Given the description of an element on the screen output the (x, y) to click on. 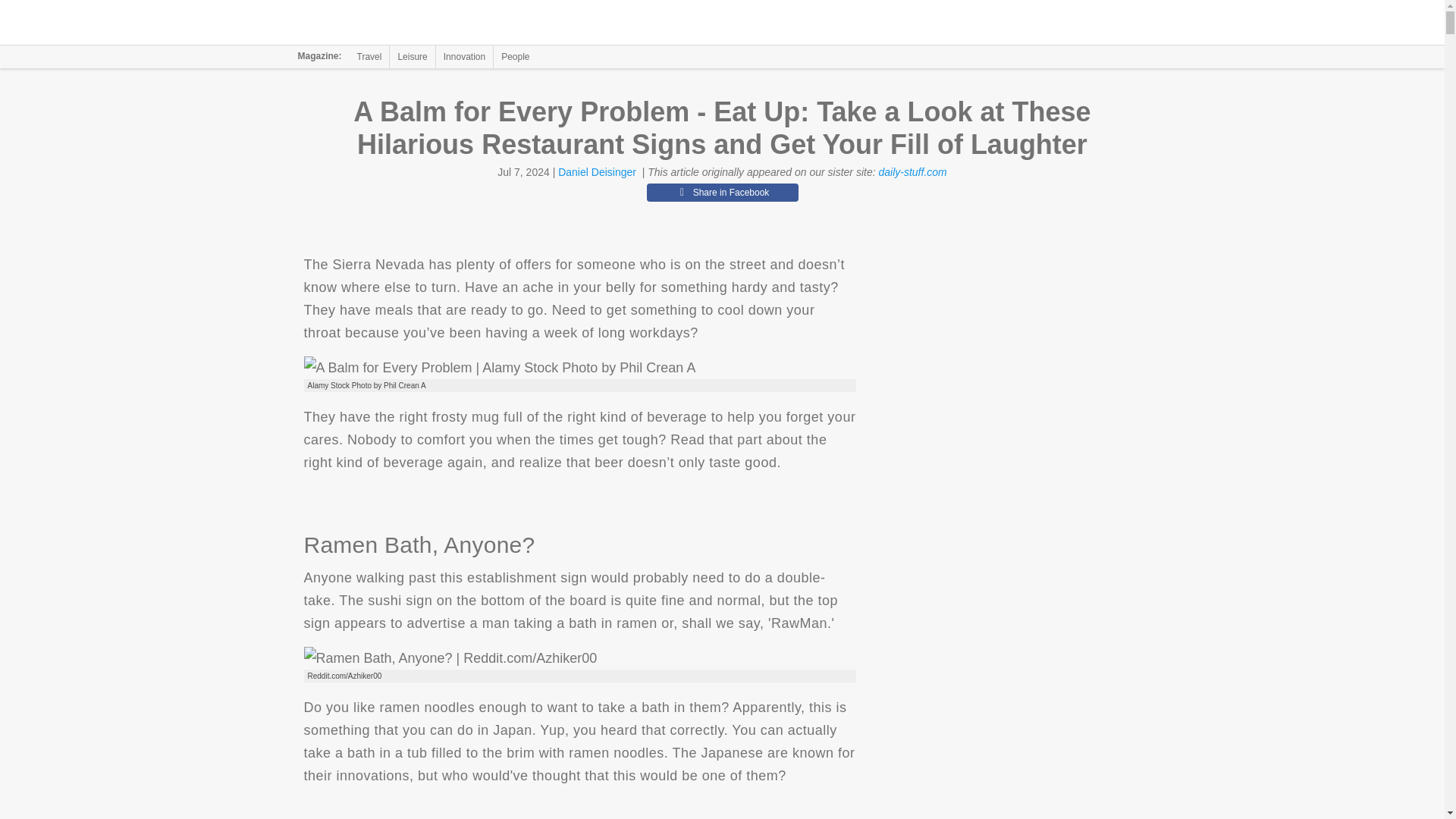
The Jerusalem Post Magazine (391, 22)
Innovation (464, 56)
People (515, 56)
Travel (369, 56)
Daniel Deisinger (596, 172)
Leisure (411, 56)
Share in Facebook (721, 192)
daily-stuff.com (911, 172)
Ramen Bath, Anyone? (449, 658)
A Balm for Every Problem (498, 367)
